Given the description of an element on the screen output the (x, y) to click on. 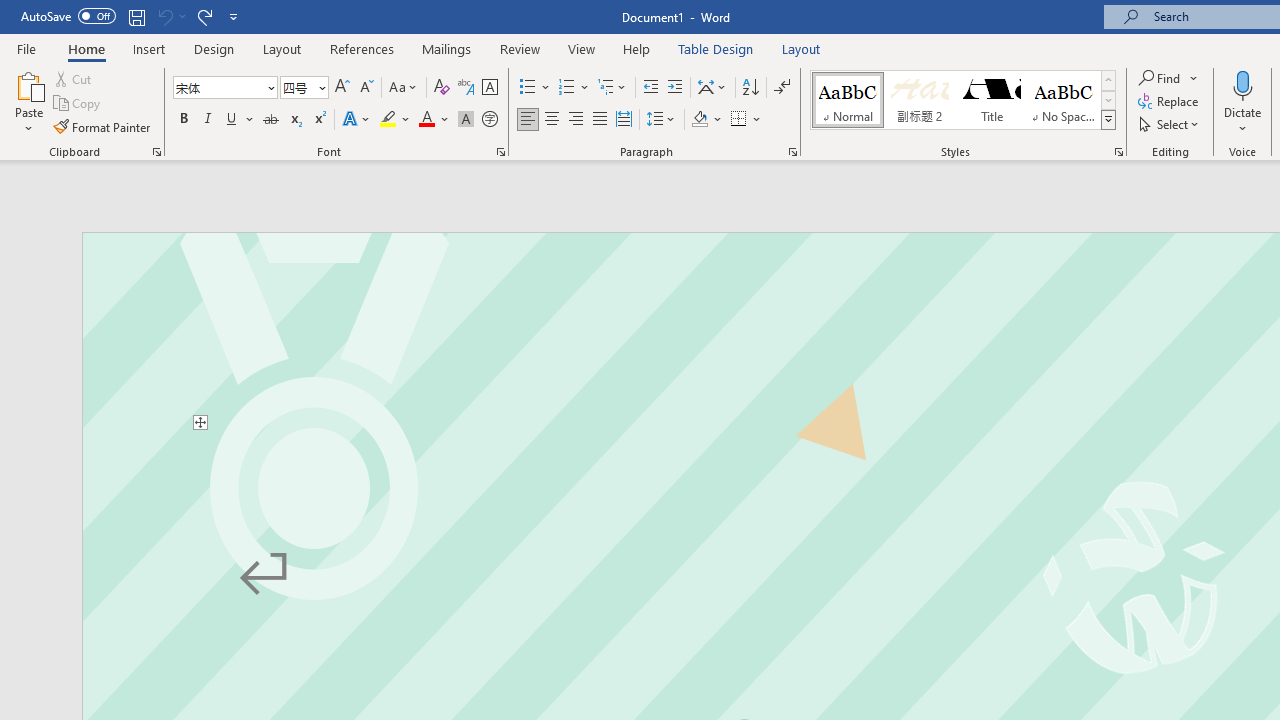
System (10, 11)
Find (1169, 78)
Copy (78, 103)
More Options (1243, 121)
Shading RGB(0, 0, 0) (699, 119)
References (362, 48)
Change Case (404, 87)
Mailings (447, 48)
Phonetic Guide... (465, 87)
Clear Formatting (442, 87)
Styles (1108, 120)
Text Highlight Color (395, 119)
Home (86, 48)
